Given the description of an element on the screen output the (x, y) to click on. 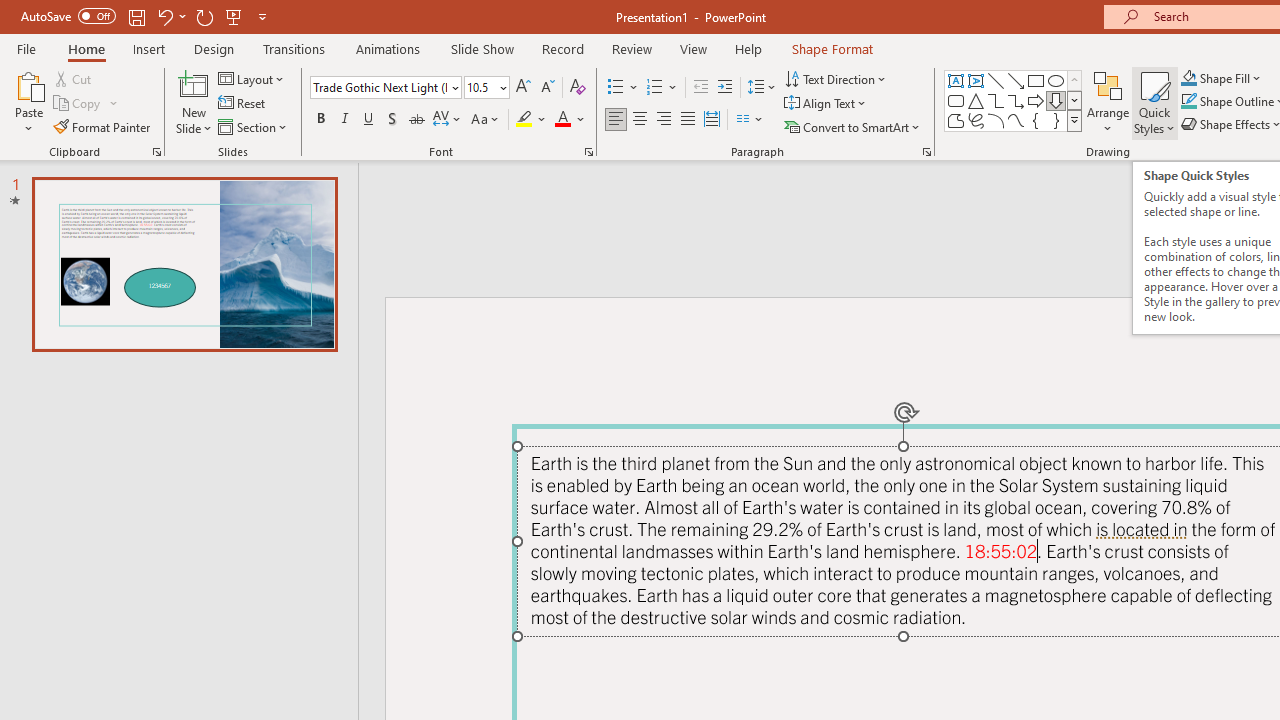
Office Clipboard... (156, 151)
Columns (750, 119)
Center (639, 119)
Decrease Indent (700, 87)
Italic (344, 119)
Connector: Elbow (995, 100)
Shape Format (832, 48)
Line (995, 80)
